Given the description of an element on the screen output the (x, y) to click on. 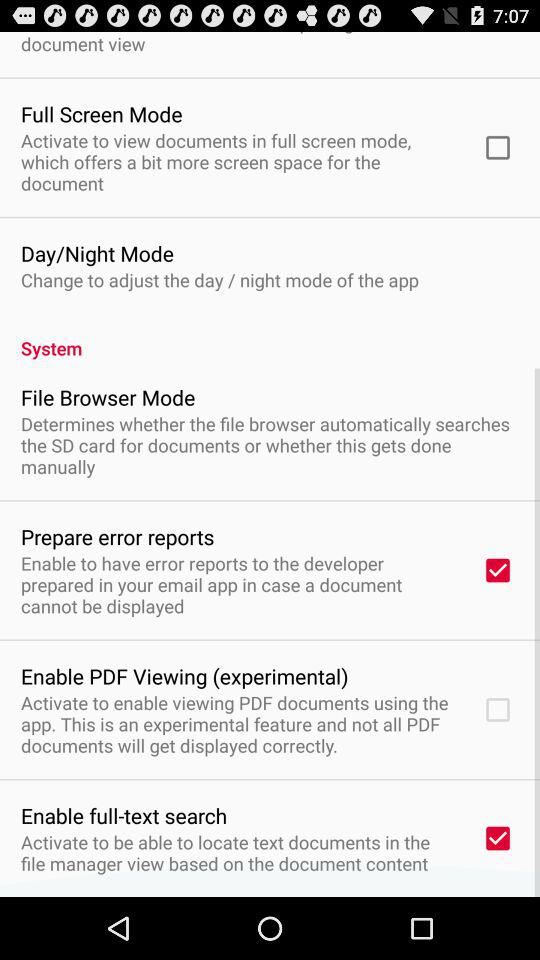
select icon above the file browser mode item (270, 337)
